Given the description of an element on the screen output the (x, y) to click on. 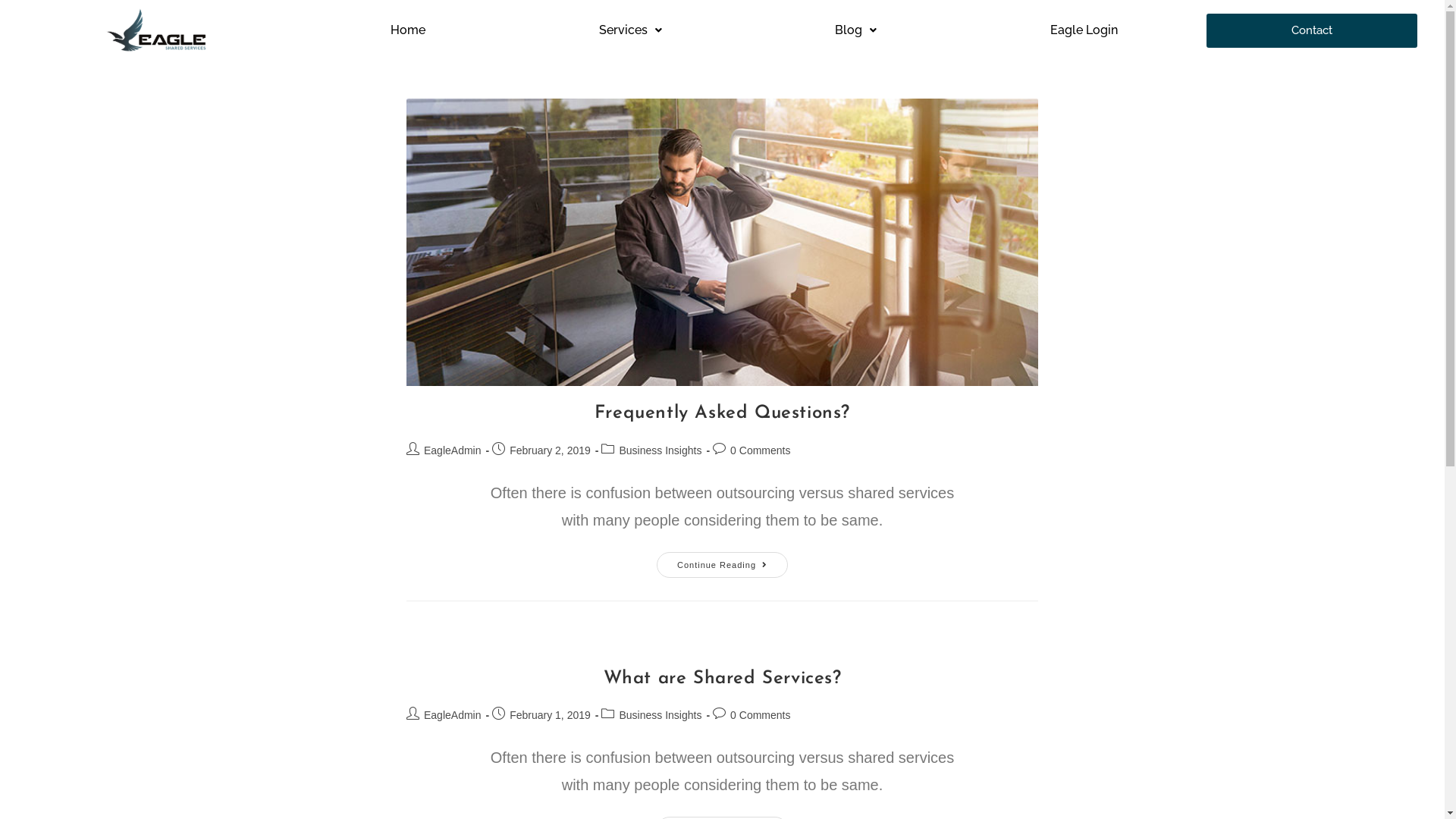
What are Shared Services? Element type: text (722, 678)
0 Comments Element type: text (760, 450)
Services Element type: text (630, 29)
0 Comments Element type: text (760, 715)
Contact Element type: text (1311, 30)
EagleAdmin Element type: text (452, 450)
EagleAdmin Element type: text (452, 715)
Continue Reading Element type: text (721, 564)
Eagle Login Element type: text (1083, 29)
Business Insights Element type: text (659, 450)
Home Element type: text (407, 29)
Frequently Asked Questions? Element type: text (722, 413)
Business Insights Element type: text (659, 715)
Blog Element type: text (856, 29)
